Given the description of an element on the screen output the (x, y) to click on. 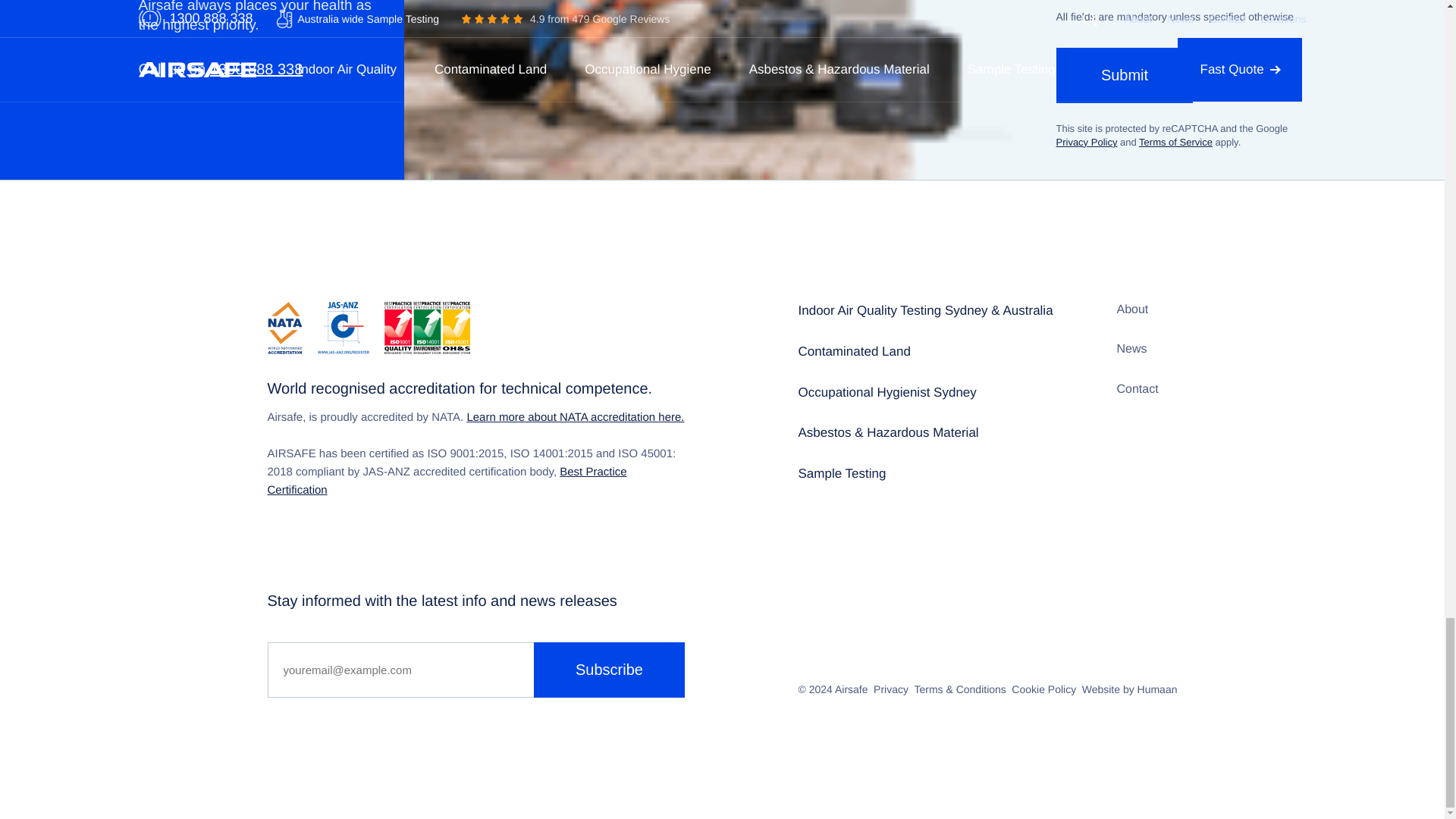
Cookie Policy (1043, 689)
Terms and Conditions (960, 689)
Privacy statement (890, 689)
Copyright Airsafe (850, 689)
